Given the description of an element on the screen output the (x, y) to click on. 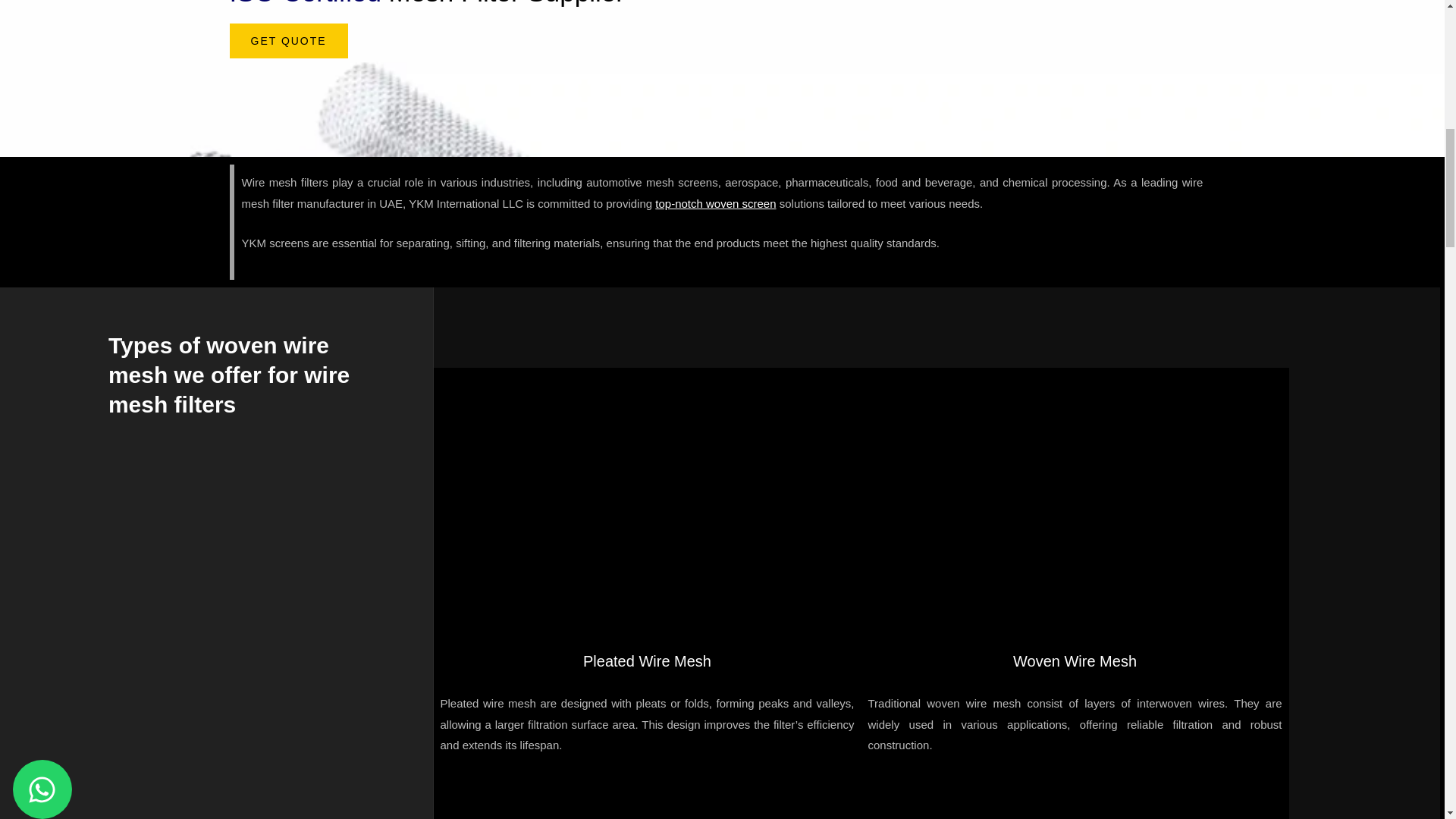
Woven Wire mesh filter (647, 501)
Woven Wire mesh filter (1074, 501)
Woven Wire mesh filter (860, 800)
